Given the description of an element on the screen output the (x, y) to click on. 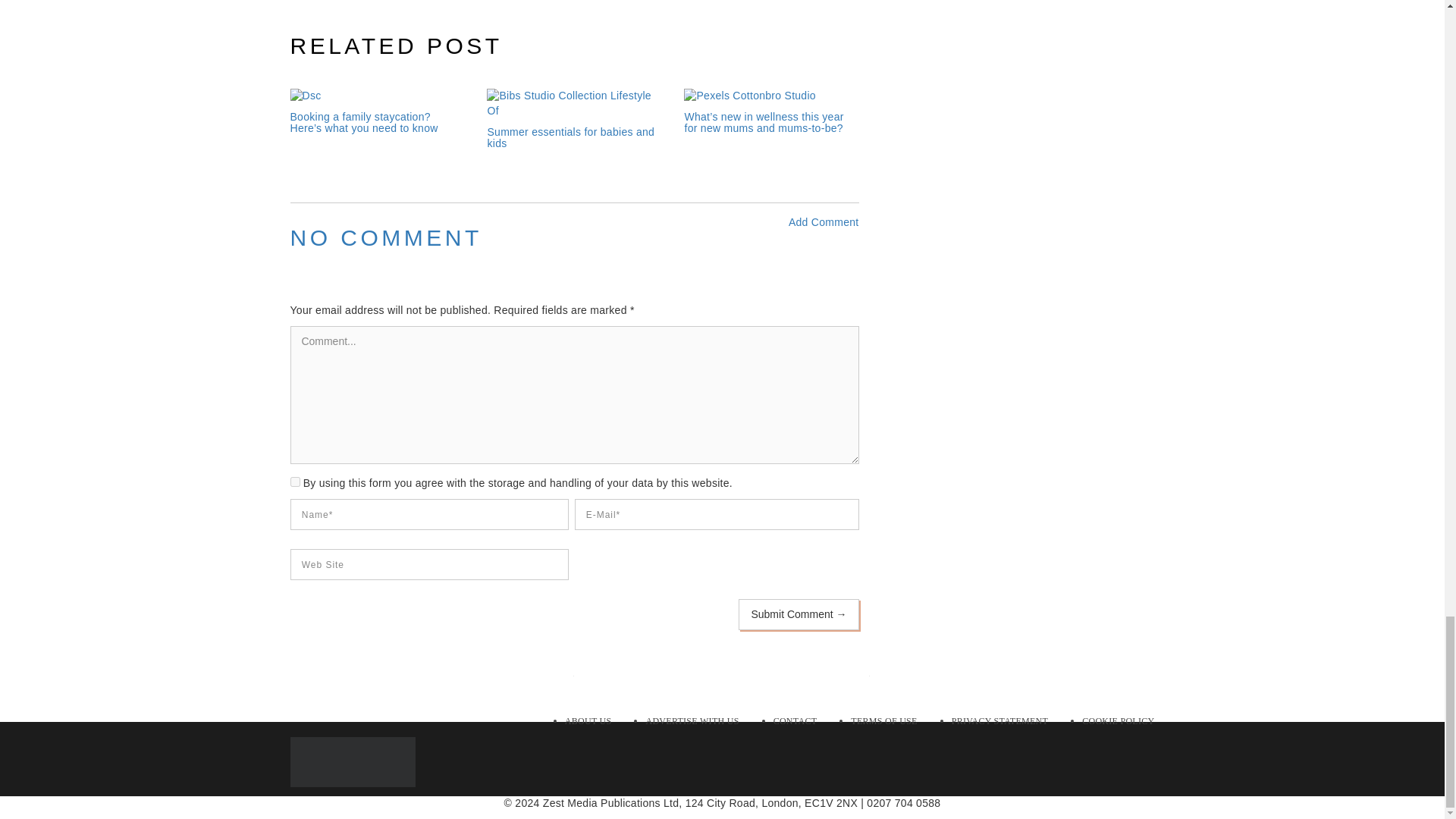
privacy-key (294, 481)
